Given the description of an element on the screen output the (x, y) to click on. 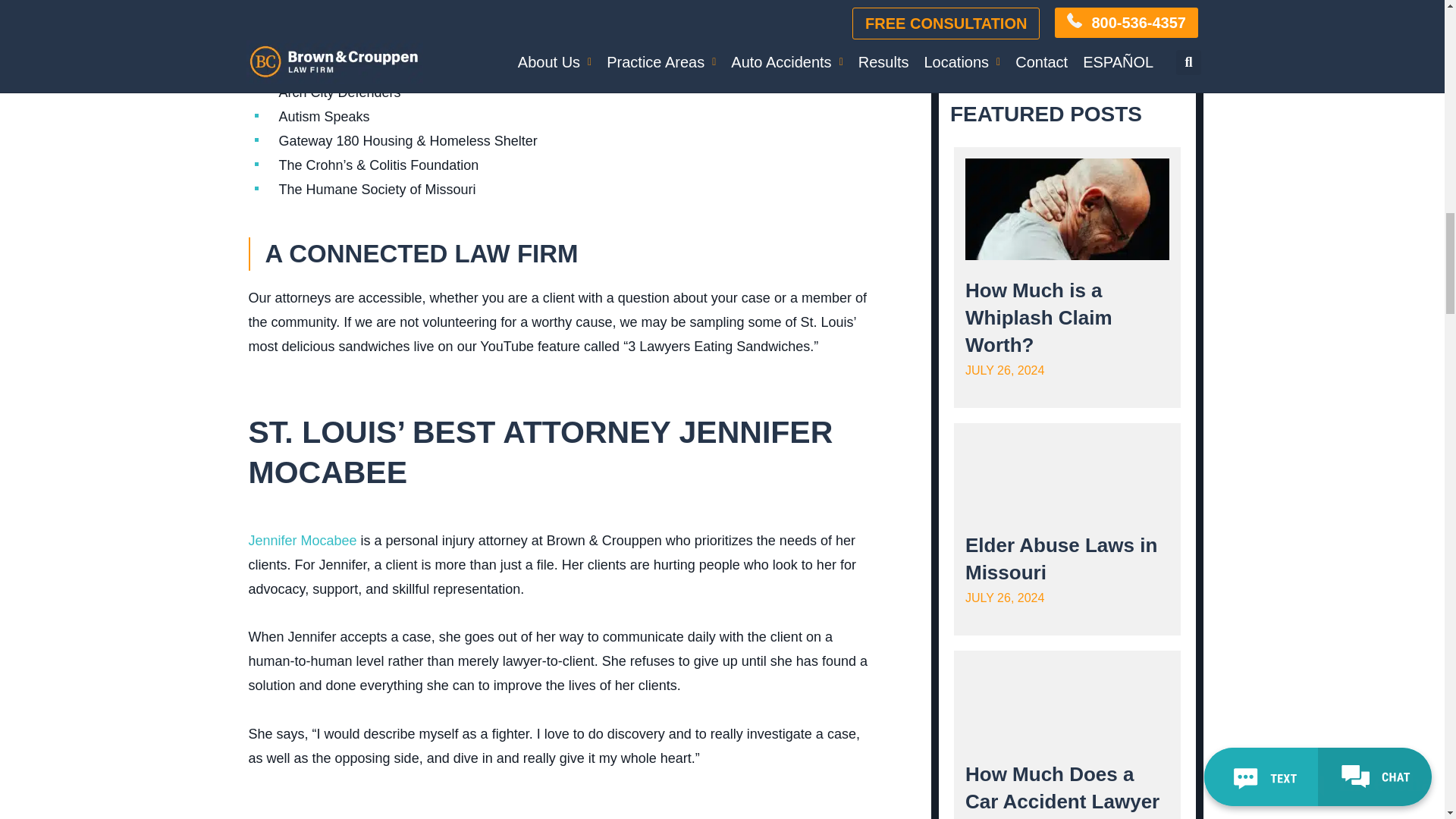
Submit (1066, 31)
